Given the description of an element on the screen output the (x, y) to click on. 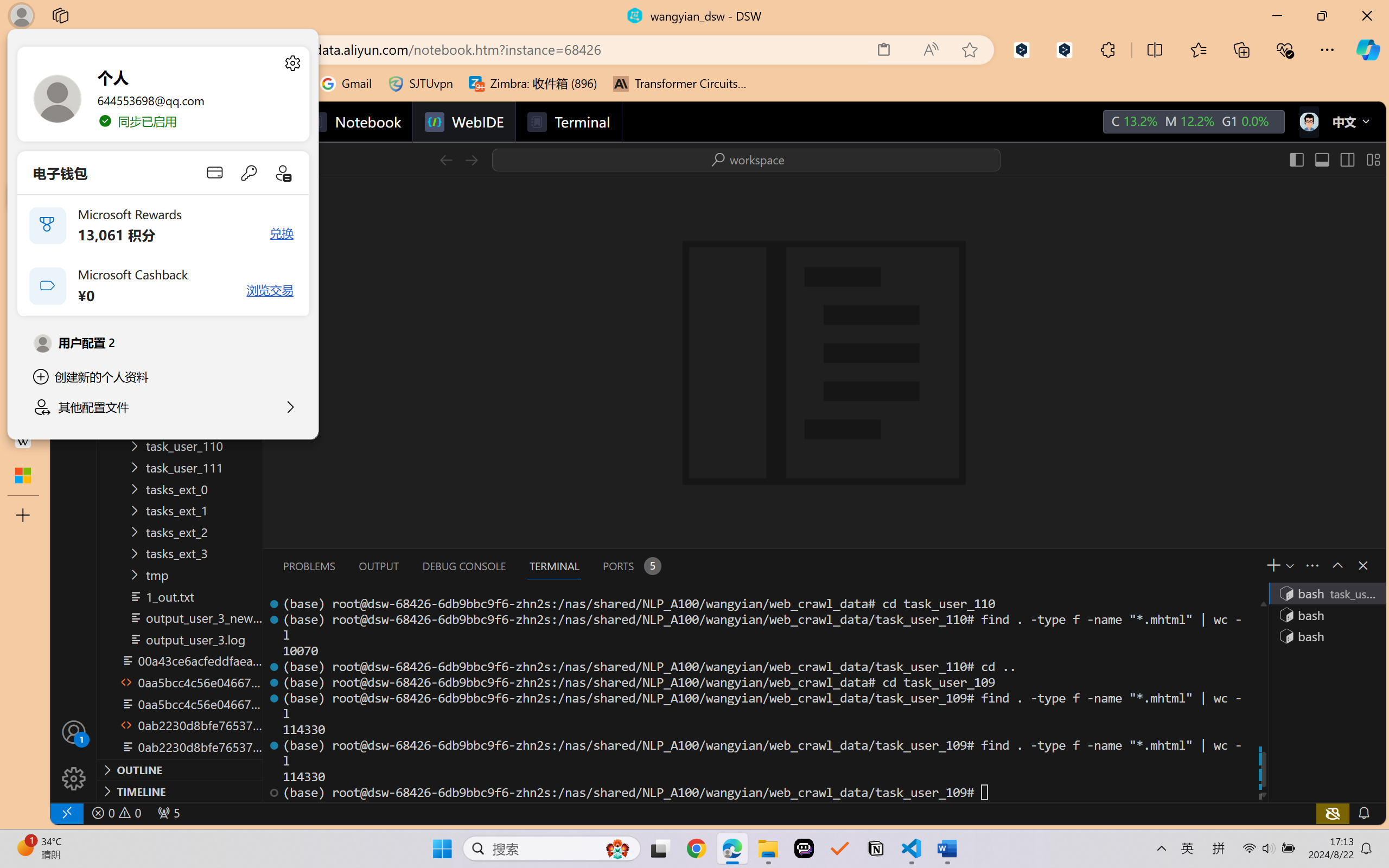
Terminal 3 bash (1326, 635)
WebIDE (463, 121)
Transformer Circuits Thread (680, 83)
Problems (Ctrl+Shift+M) (308, 565)
Go Back (Alt+LeftArrow) (445, 159)
